Given the description of an element on the screen output the (x, y) to click on. 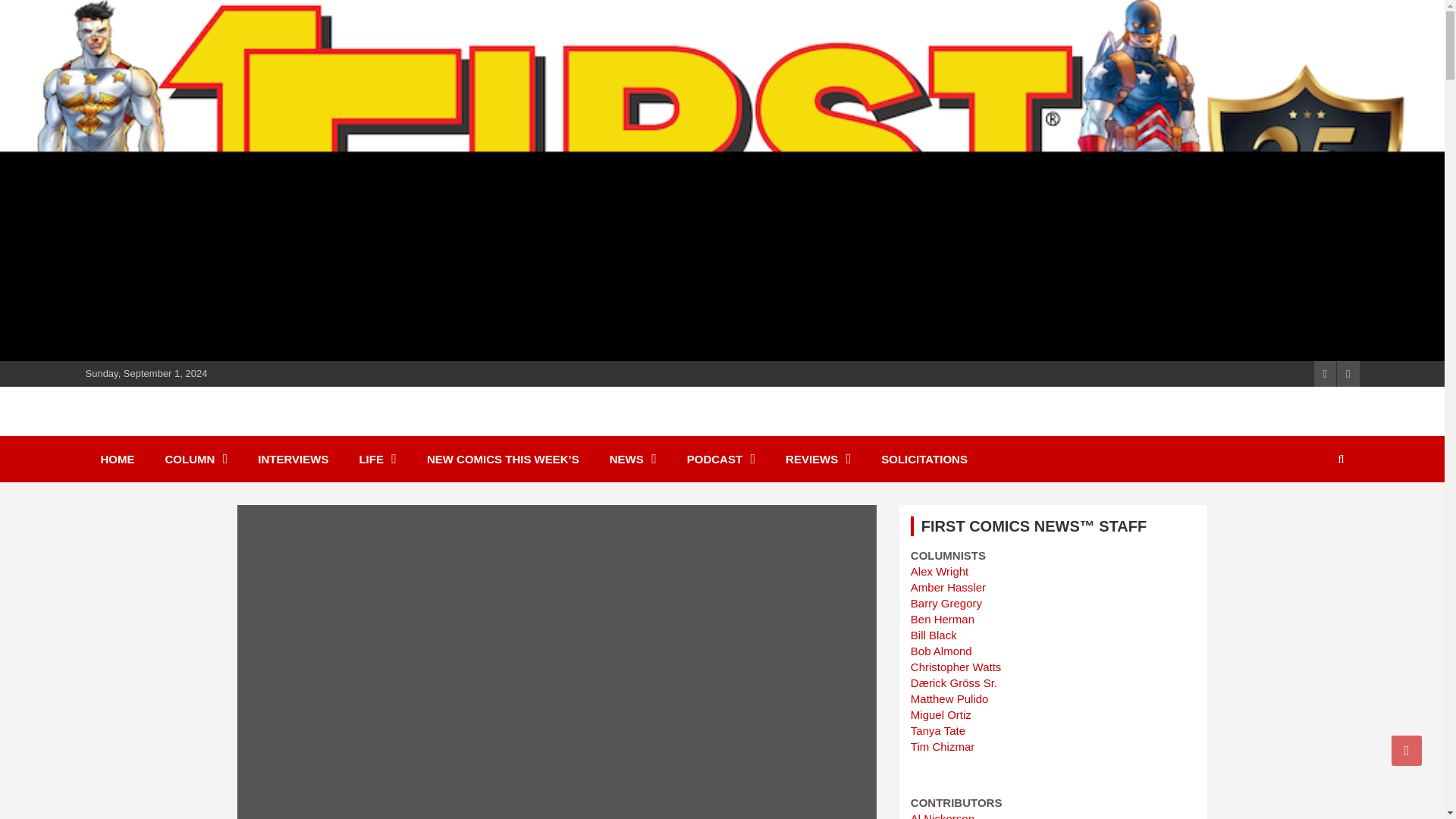
LIFE (377, 458)
COLUMN (196, 458)
Go to Top (1406, 750)
REVIEWS (818, 458)
HOME (116, 458)
NEWS (632, 458)
INTERVIEWS (293, 458)
First Comics News (220, 428)
PODCAST (720, 458)
